Given the description of an element on the screen output the (x, y) to click on. 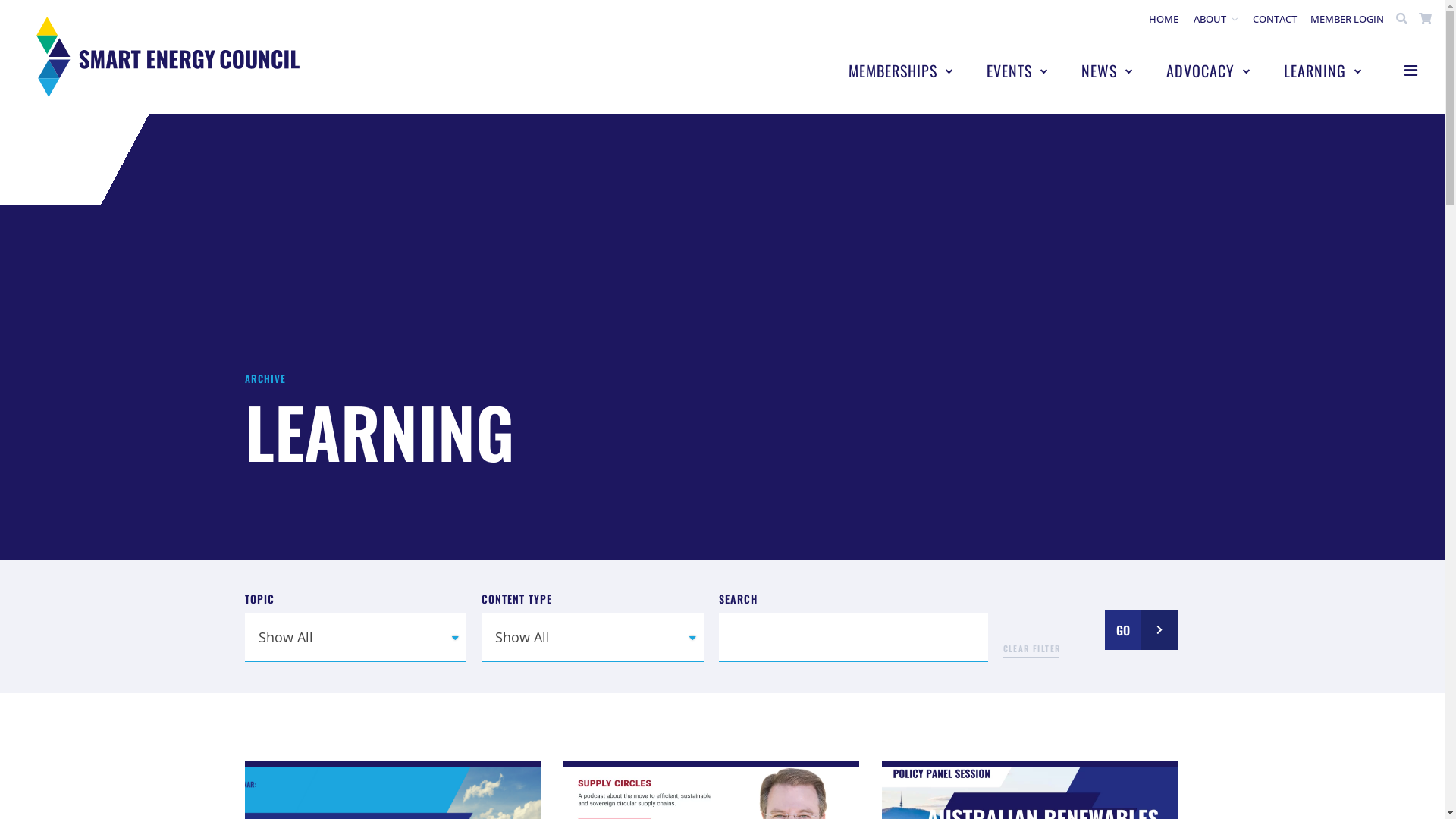
Terms and Conditions Element type: text (110, 760)
HOME Element type: text (1163, 18)
Policies Element type: text (202, 760)
EVENTS Element type: text (1015, 70)
MEMBER LOGIN Element type: text (1348, 19)
MEMBERSHIPS Element type: text (899, 70)
Industry Directory Element type: text (968, 693)
LEARNING Element type: text (1321, 70)
FAQs Element type: text (803, 715)
GO Element type: text (1140, 629)
CONTACT Element type: text (1274, 18)
ABOUT Element type: text (1215, 18)
NEWS Element type: text (1105, 70)
ADVOCACY Element type: text (1206, 70)
Membership Solutions Element type: text (968, 671)
About Element type: text (803, 671)
Donations Element type: text (264, 760)
Contact Element type: text (803, 693)
